Given the description of an element on the screen output the (x, y) to click on. 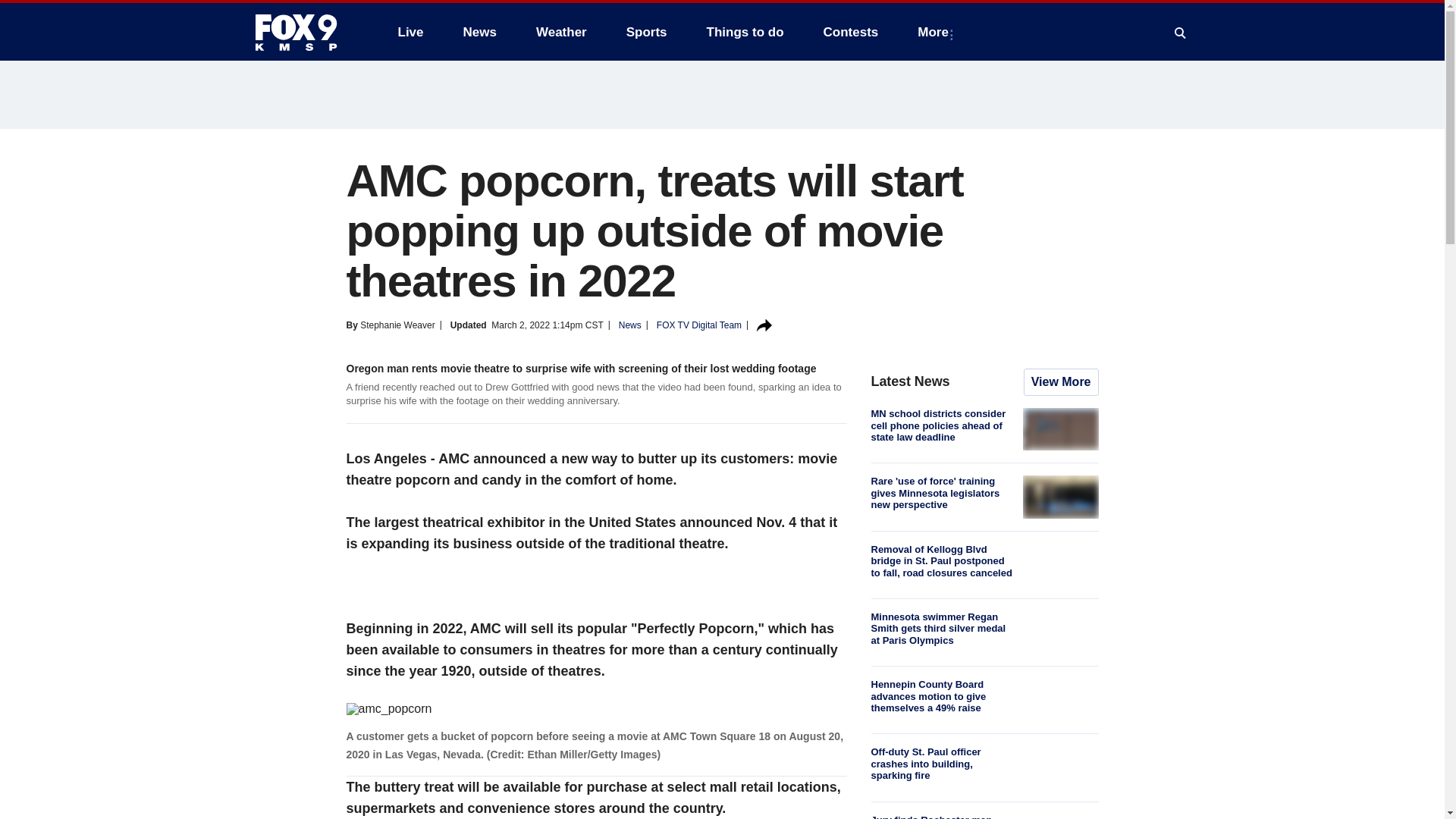
News (479, 32)
Weather (561, 32)
Contests (850, 32)
Things to do (745, 32)
More (935, 32)
Sports (646, 32)
Live (410, 32)
